Given the description of an element on the screen output the (x, y) to click on. 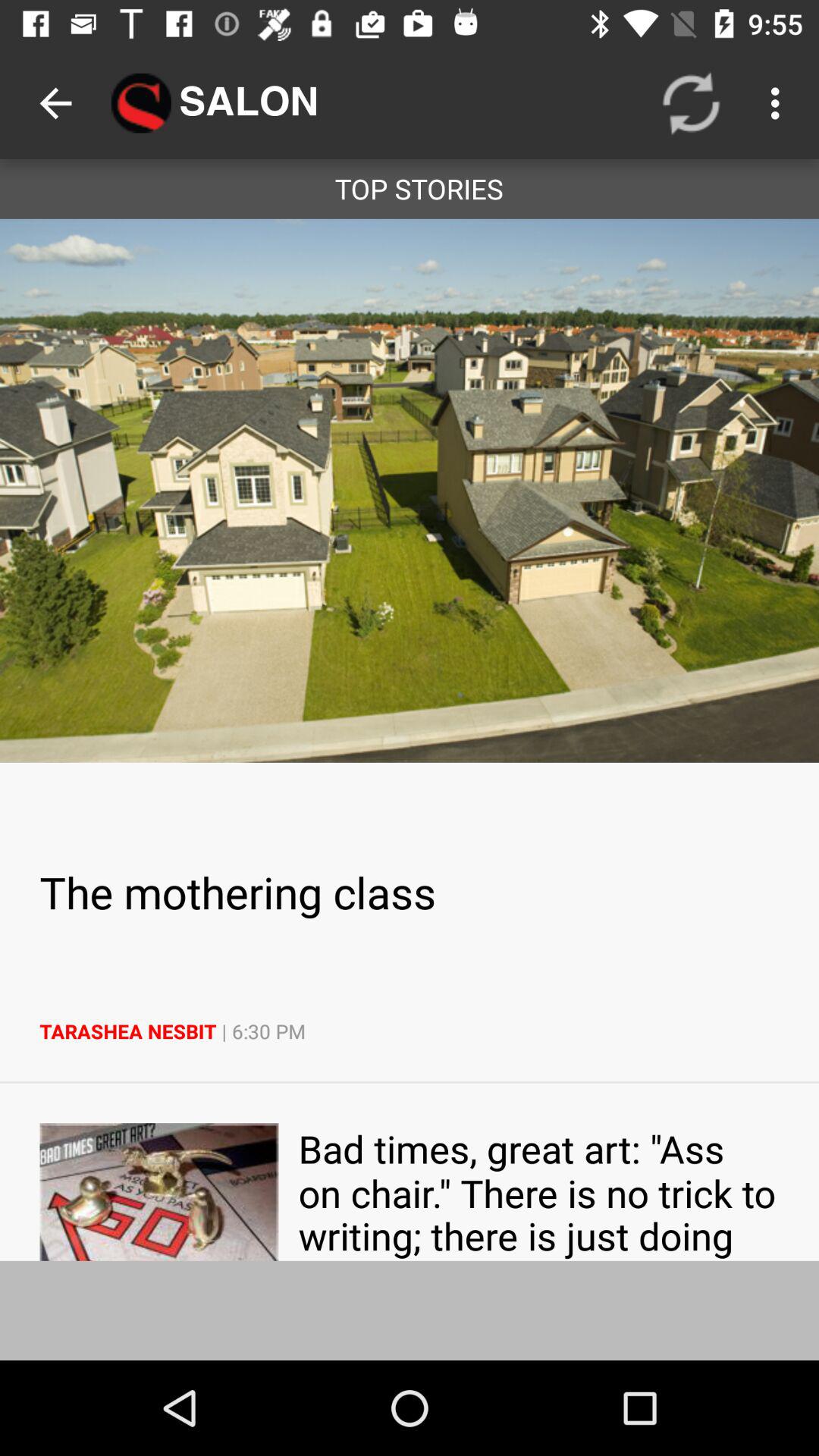
jump until tarashea nesbit 6 app (409, 1031)
